Given the description of an element on the screen output the (x, y) to click on. 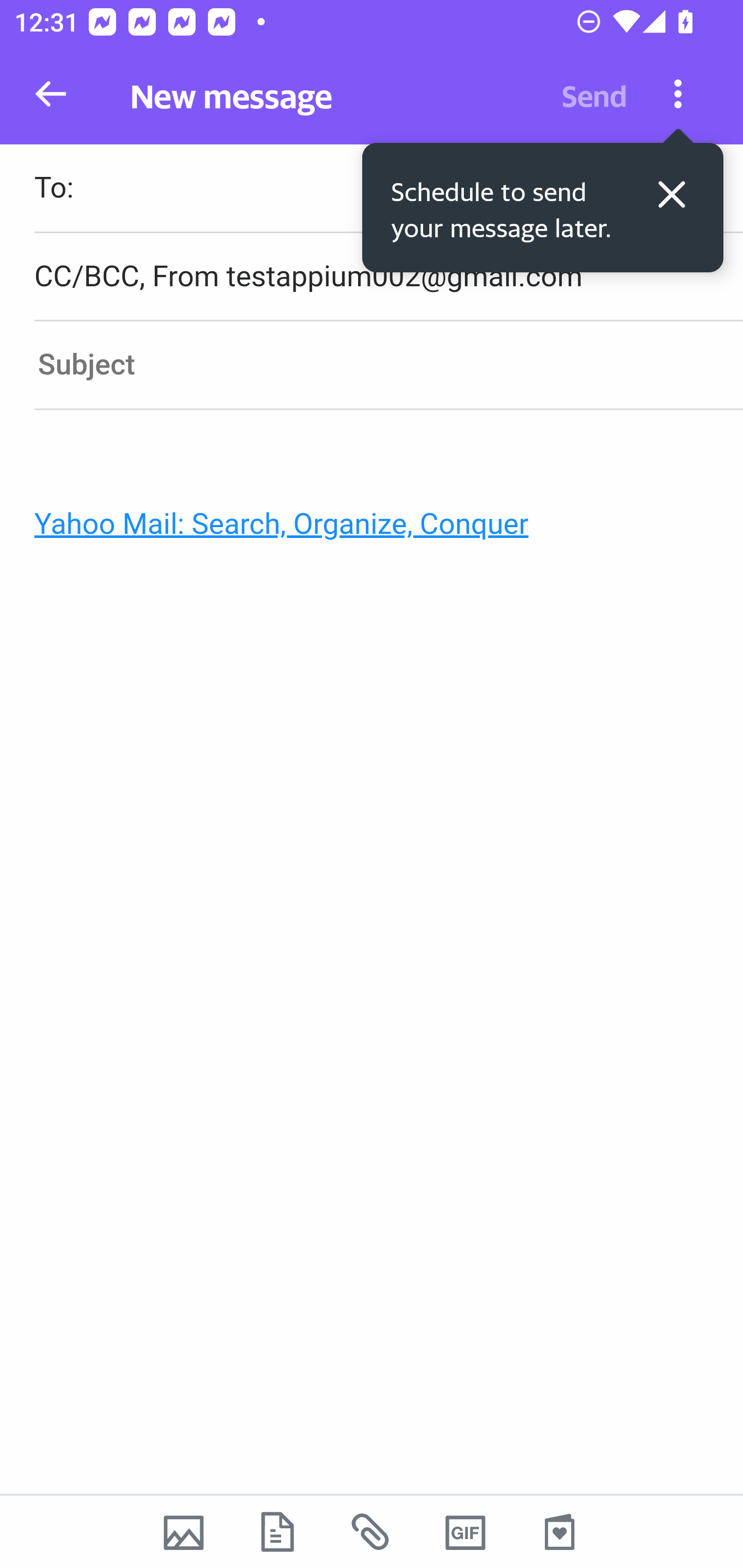
Close (671, 194)
